Given the description of an element on the screen output the (x, y) to click on. 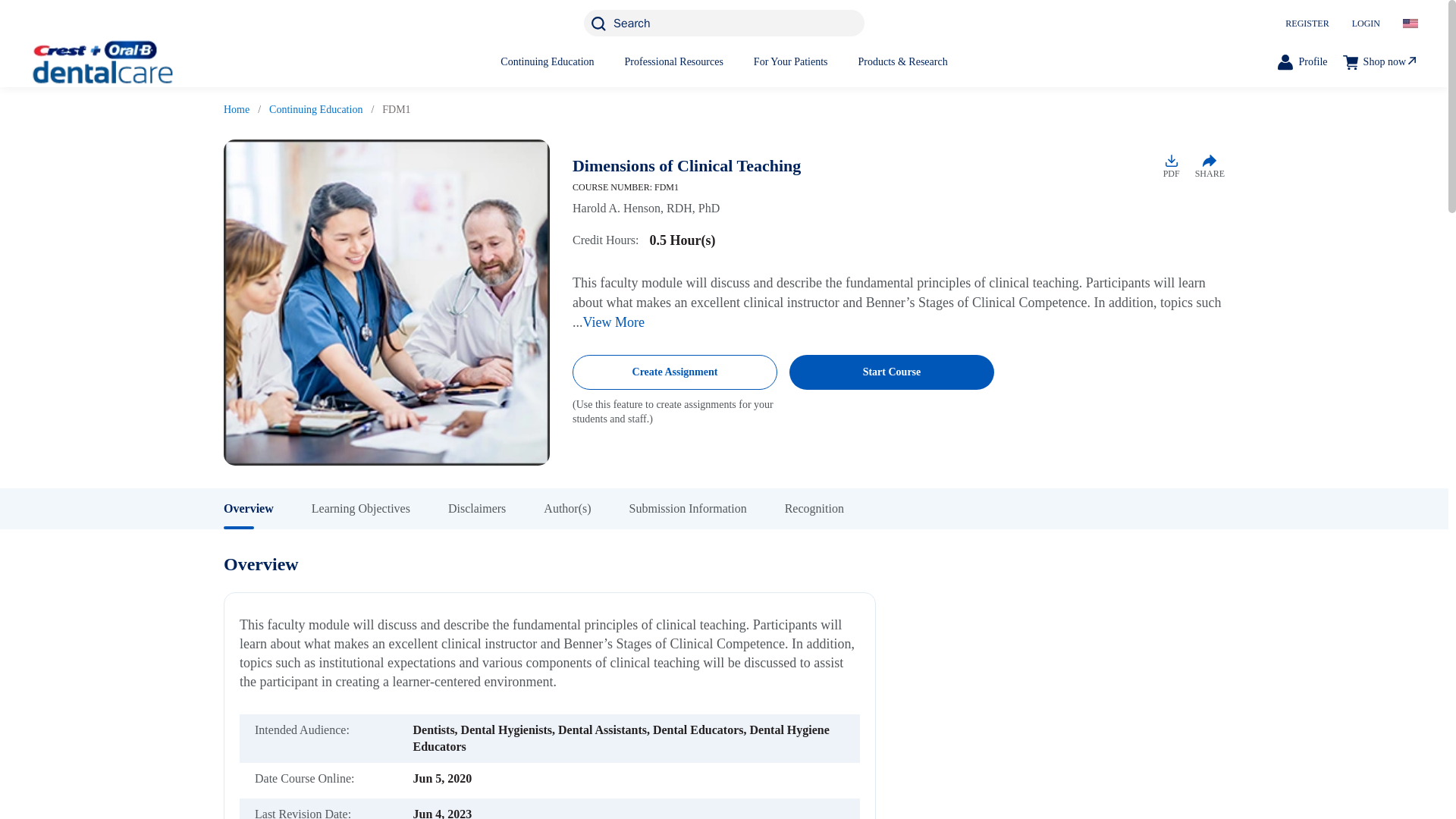
REGISTER (1306, 22)
Recognition (833, 508)
Continuing Education (315, 109)
Learning Objectives (379, 508)
Professional Resources (673, 61)
Create Assignment (674, 371)
Home (236, 109)
Disclaimers (495, 508)
Continuing Education (547, 61)
Start Course (891, 371)
